Given the description of an element on the screen output the (x, y) to click on. 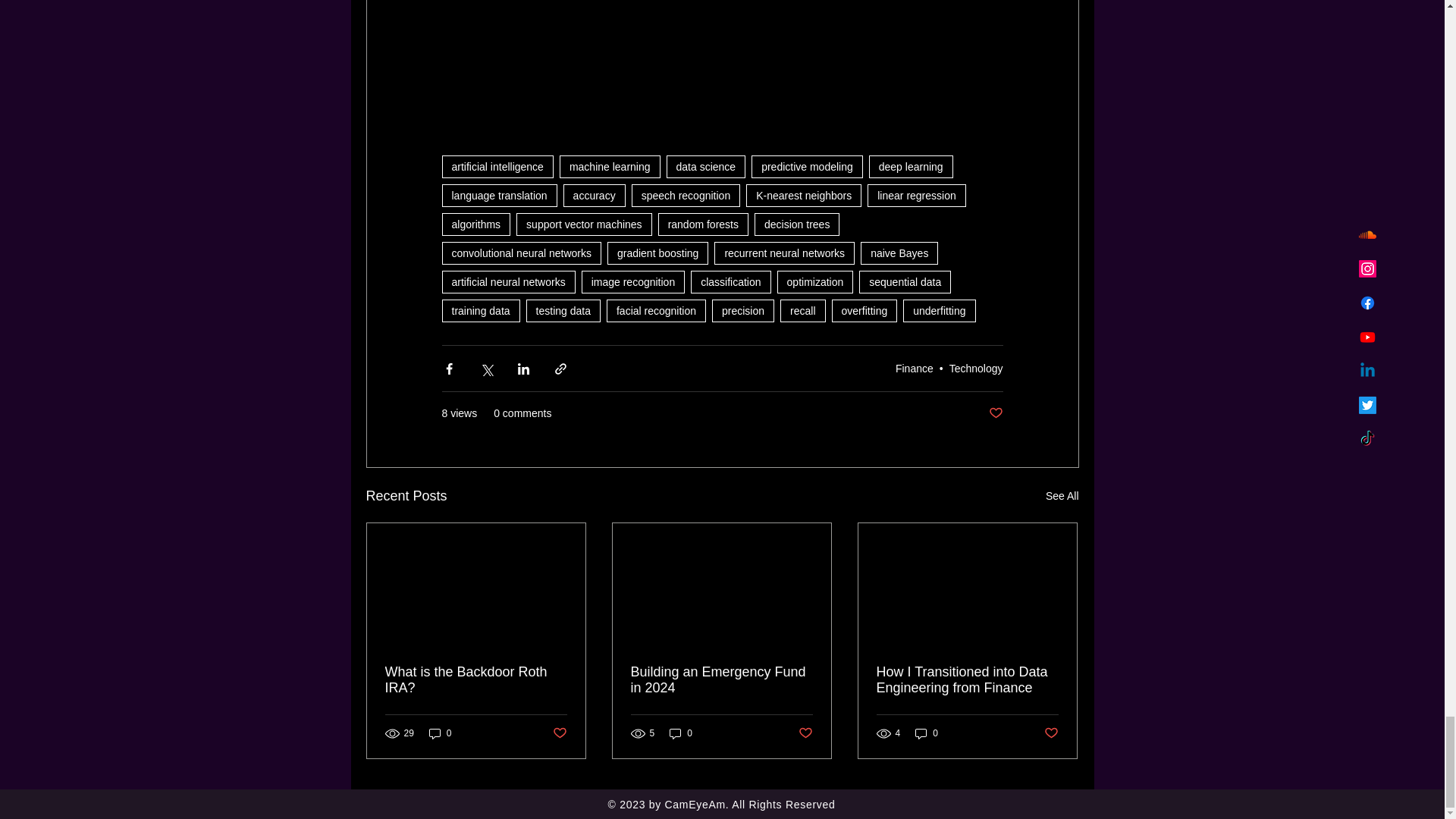
speech recognition (686, 195)
machine learning (610, 166)
language translation (498, 195)
data science (705, 166)
artificial intelligence (497, 166)
predictive modeling (807, 166)
deep learning (911, 166)
accuracy (594, 195)
